Given the description of an element on the screen output the (x, y) to click on. 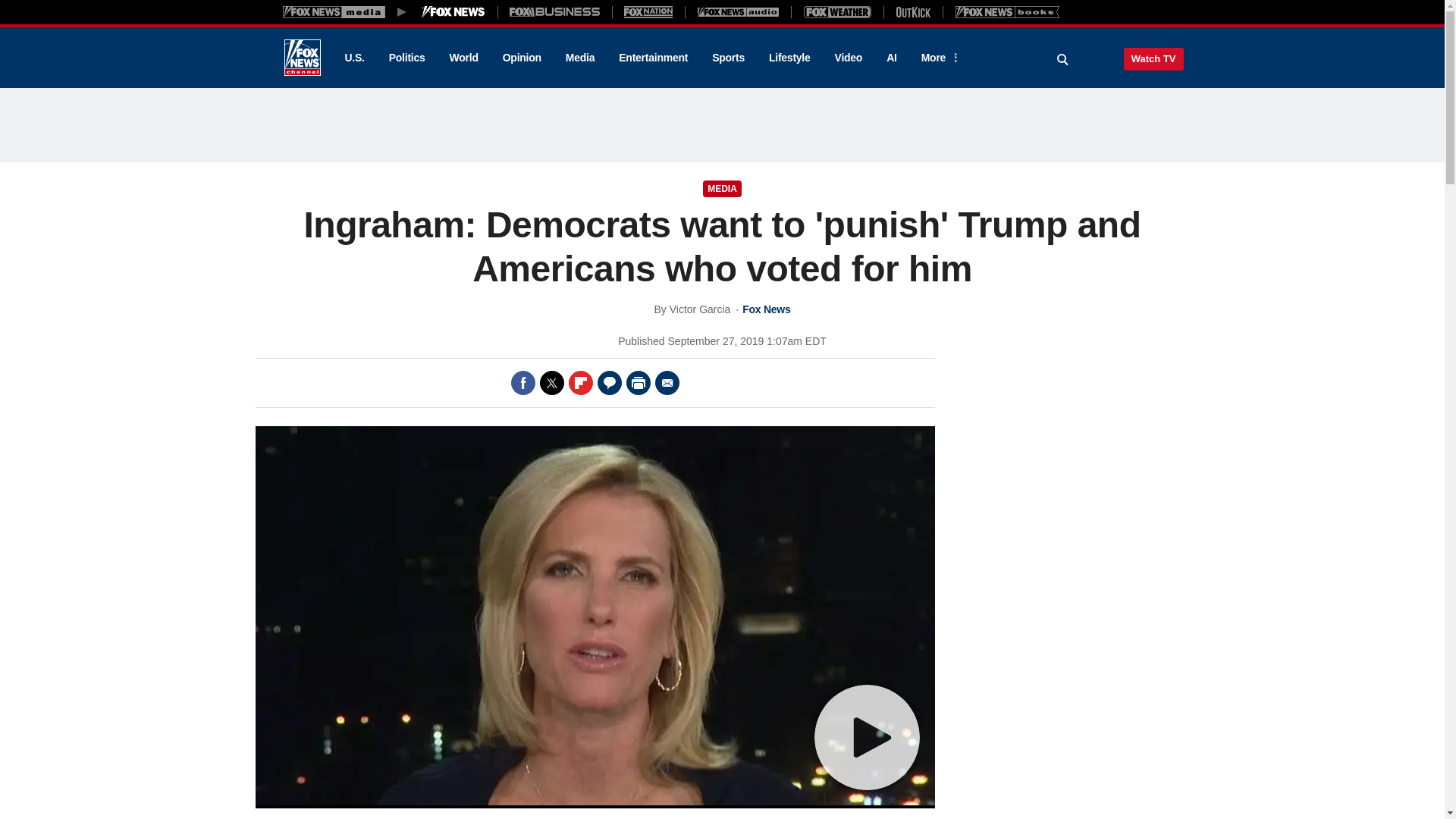
Entertainment (653, 57)
Sports (728, 57)
Watch TV (1153, 58)
Politics (407, 57)
Media (580, 57)
Opinion (521, 57)
Lifestyle (789, 57)
Fox News (301, 57)
Fox Nation (648, 11)
Video (848, 57)
